Given the description of an element on the screen output the (x, y) to click on. 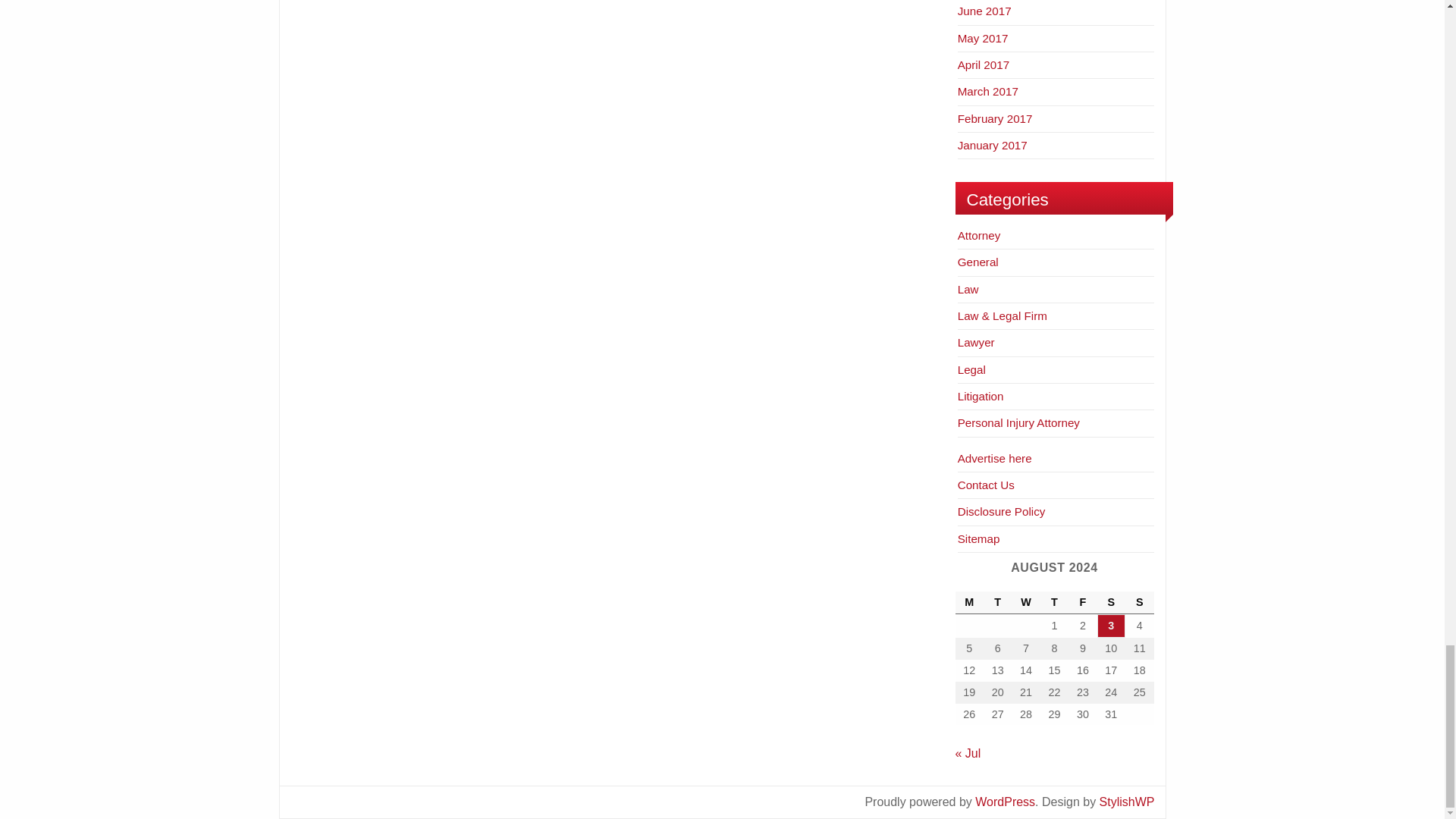
Sunday (1139, 602)
BlogoLife (1126, 801)
Wednesday (1025, 602)
Thursday (1054, 602)
Monday (969, 602)
Saturday (1111, 602)
Friday (1082, 602)
Tuesday (997, 602)
